Given the description of an element on the screen output the (x, y) to click on. 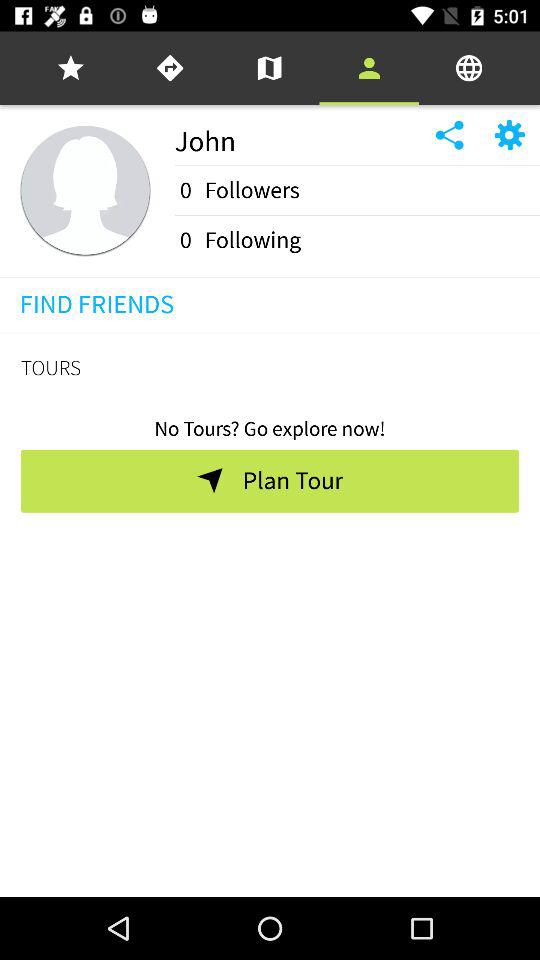
launch icon above the plan tour item (269, 422)
